Given the description of an element on the screen output the (x, y) to click on. 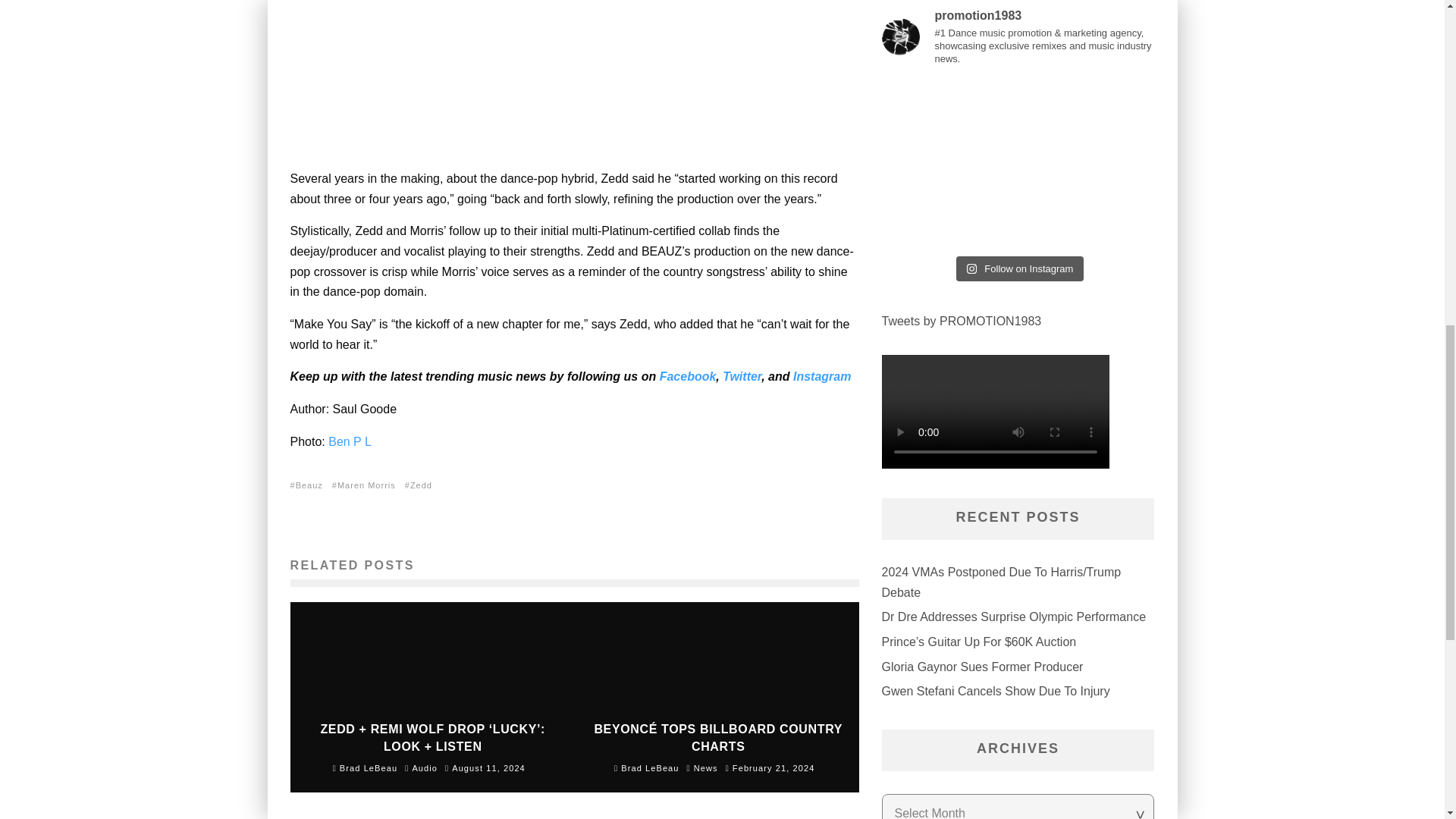
Ben P L (350, 440)
Brad LeBeau (365, 768)
Brad LeBeau (646, 768)
Zedd (422, 485)
Audio (425, 767)
Instagram (821, 376)
Beauz (310, 485)
Maren Morris (367, 485)
News (705, 767)
Twitter (741, 376)
